Given the description of an element on the screen output the (x, y) to click on. 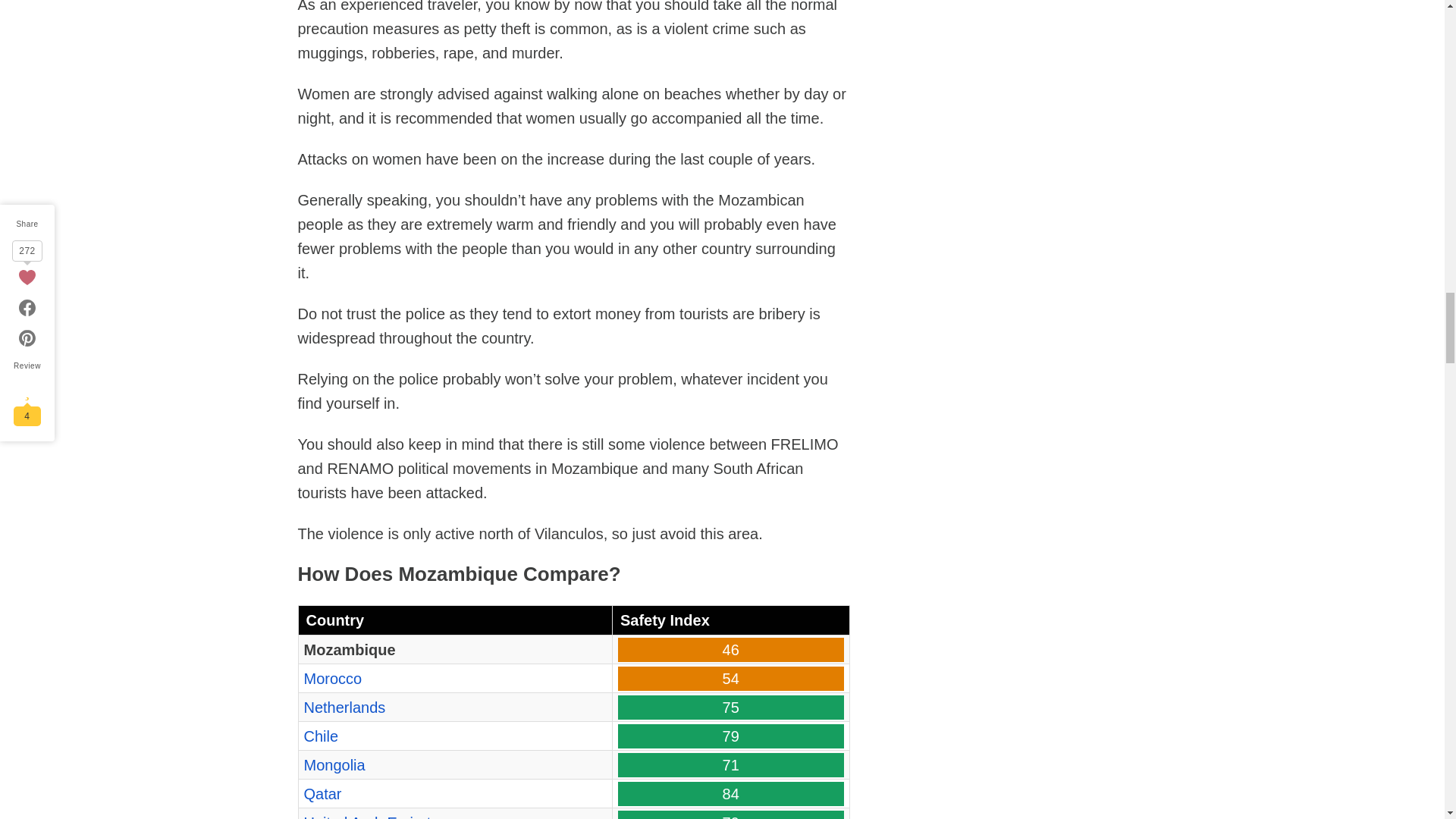
United Arab Emirates (374, 816)
Mongolia Safety Review (333, 764)
Mongolia (333, 764)
Qatar Safety Review (321, 793)
Netherlands (343, 707)
Netherlands Safety Review (343, 707)
Morocco (331, 678)
Chile (319, 736)
Qatar (321, 793)
Morocco Safety Review (331, 678)
United Arab Emirates Safety Review (374, 816)
Chile Safety Review (319, 736)
